Given the description of an element on the screen output the (x, y) to click on. 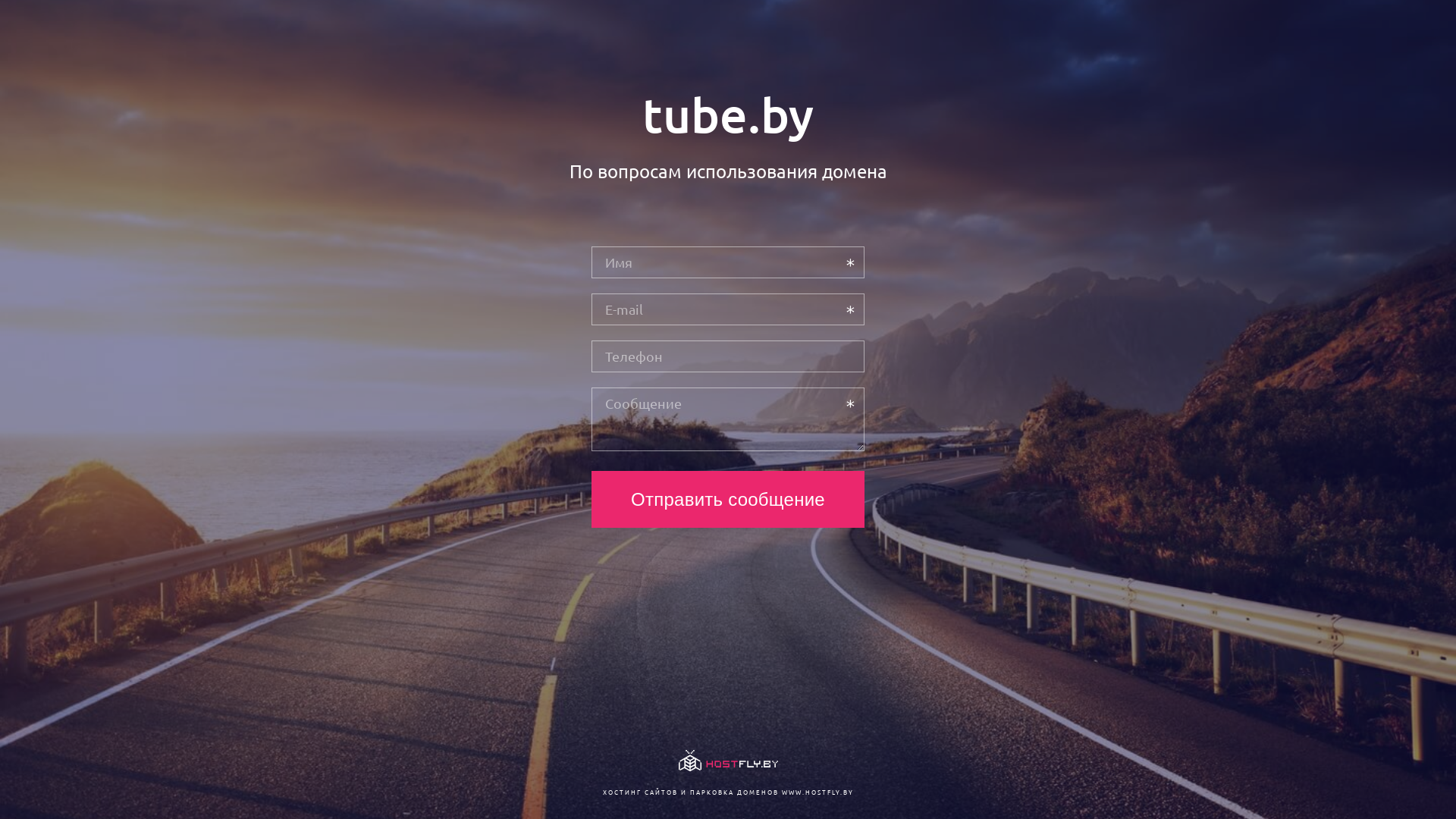
WWW.HOSTFLY.BY Element type: text (817, 791)
